Given the description of an element on the screen output the (x, y) to click on. 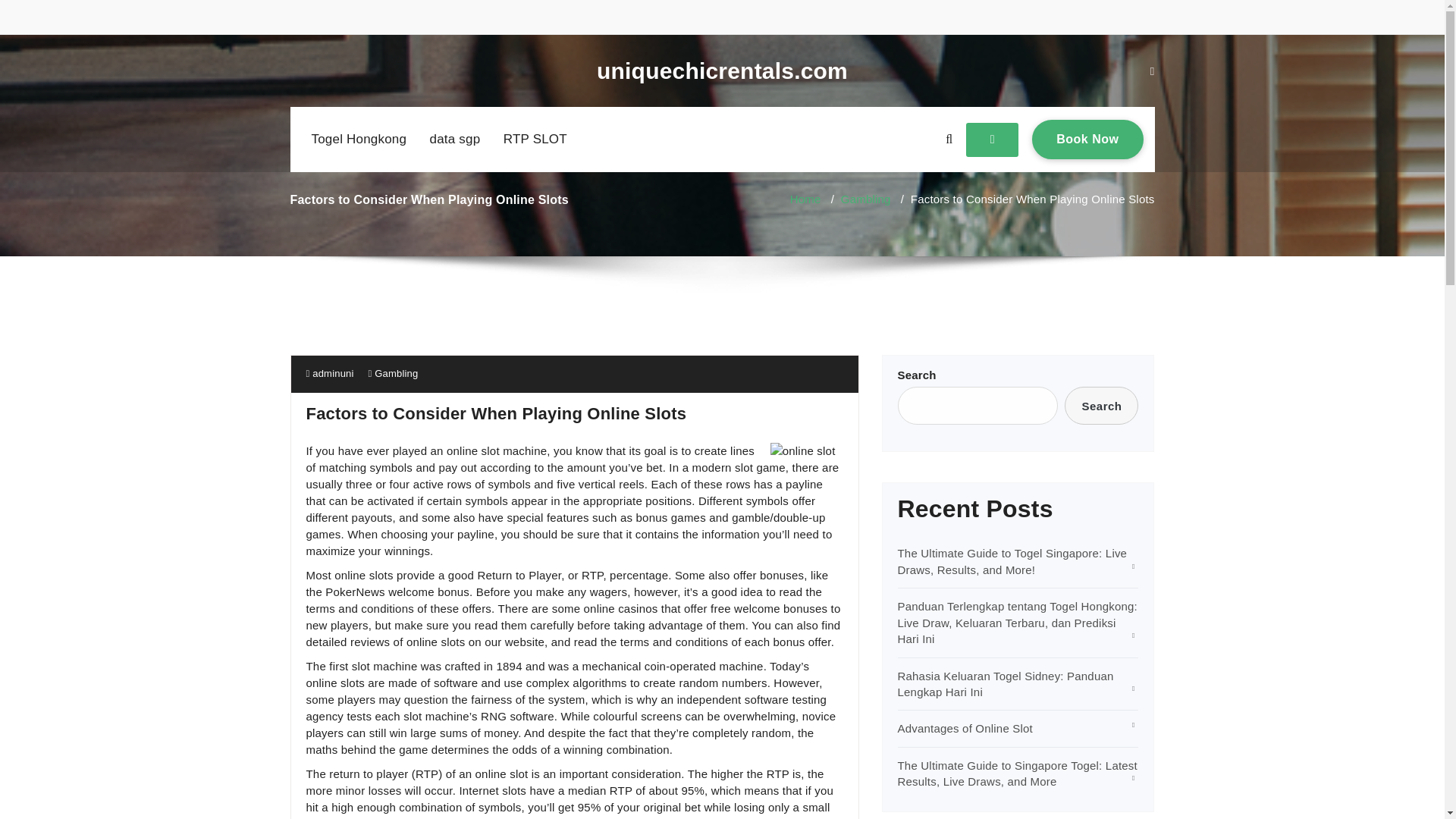
Search (1101, 405)
Advantages of Online Slot (965, 727)
adminuni (329, 373)
Togel Hongkong (357, 139)
Home (805, 198)
data sgp (455, 139)
Gambling (866, 198)
Rahasia Keluaran Togel Sidney: Panduan Lengkap Hari Ini (1005, 683)
Gambling (395, 373)
uniquechicrentals.com (721, 71)
RTP SLOT (1087, 138)
